Given the description of an element on the screen output the (x, y) to click on. 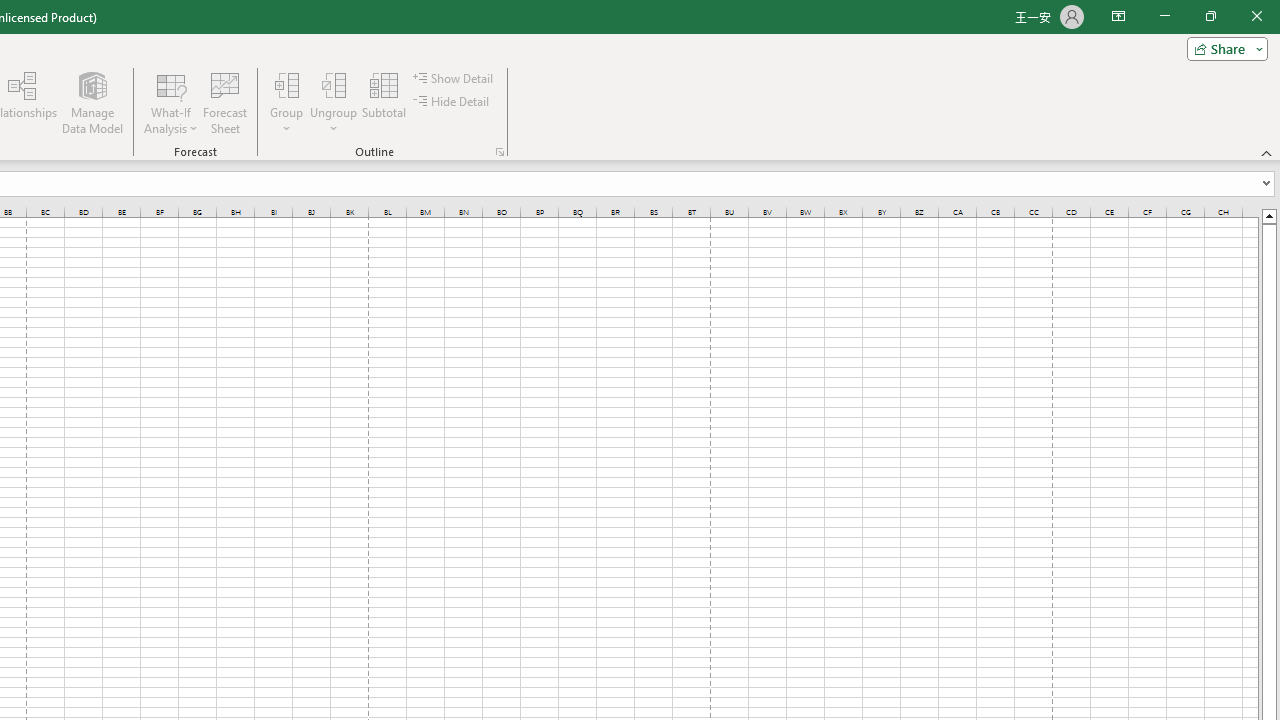
Subtotal (384, 102)
Show Detail (454, 78)
Group and Outline Settings (499, 151)
What-If Analysis (171, 102)
Forecast Sheet (224, 102)
